Given the description of an element on the screen output the (x, y) to click on. 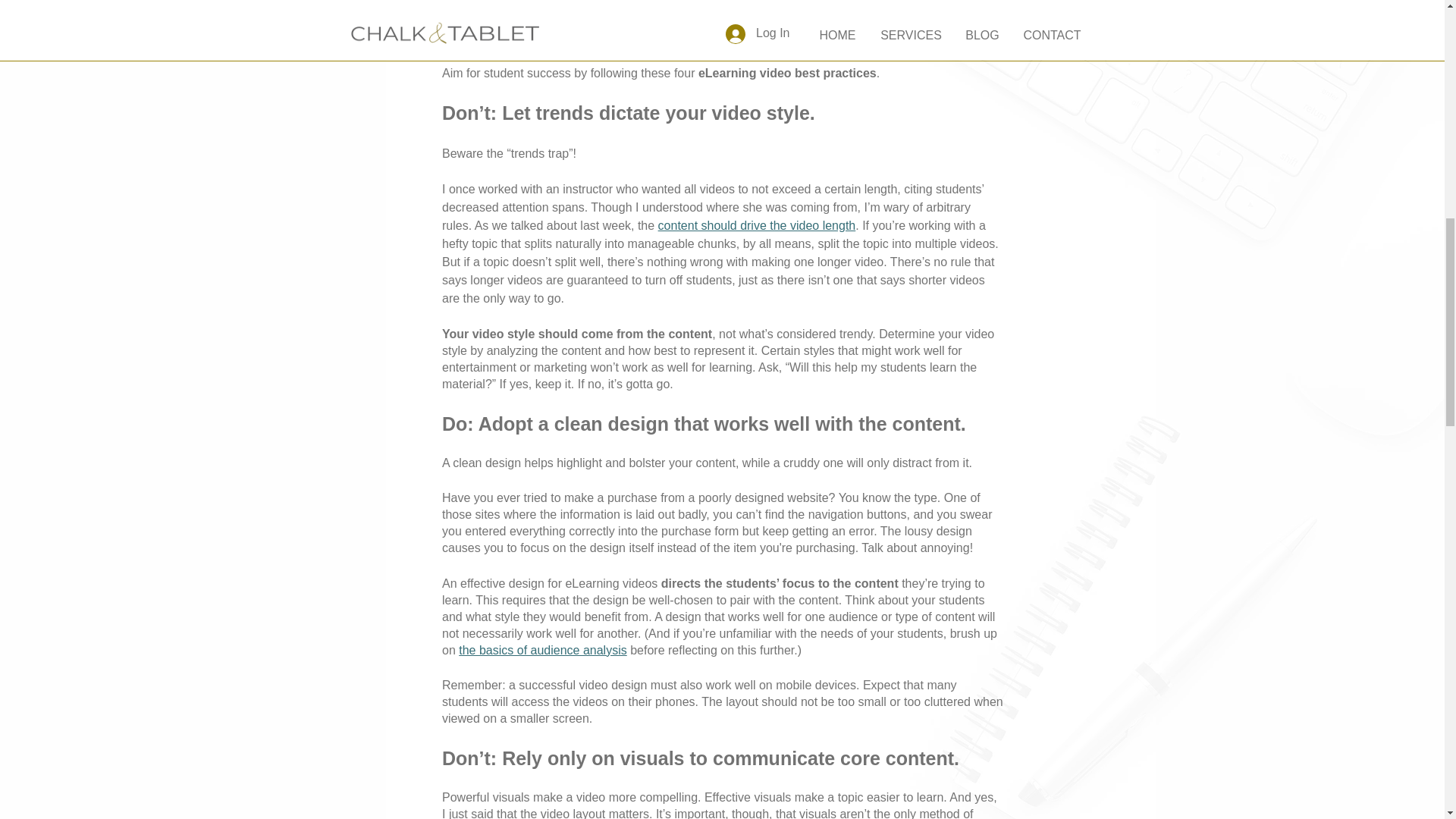
the basics of audience analysis (542, 649)
content should drive the video length (757, 225)
